Given the description of an element on the screen output the (x, y) to click on. 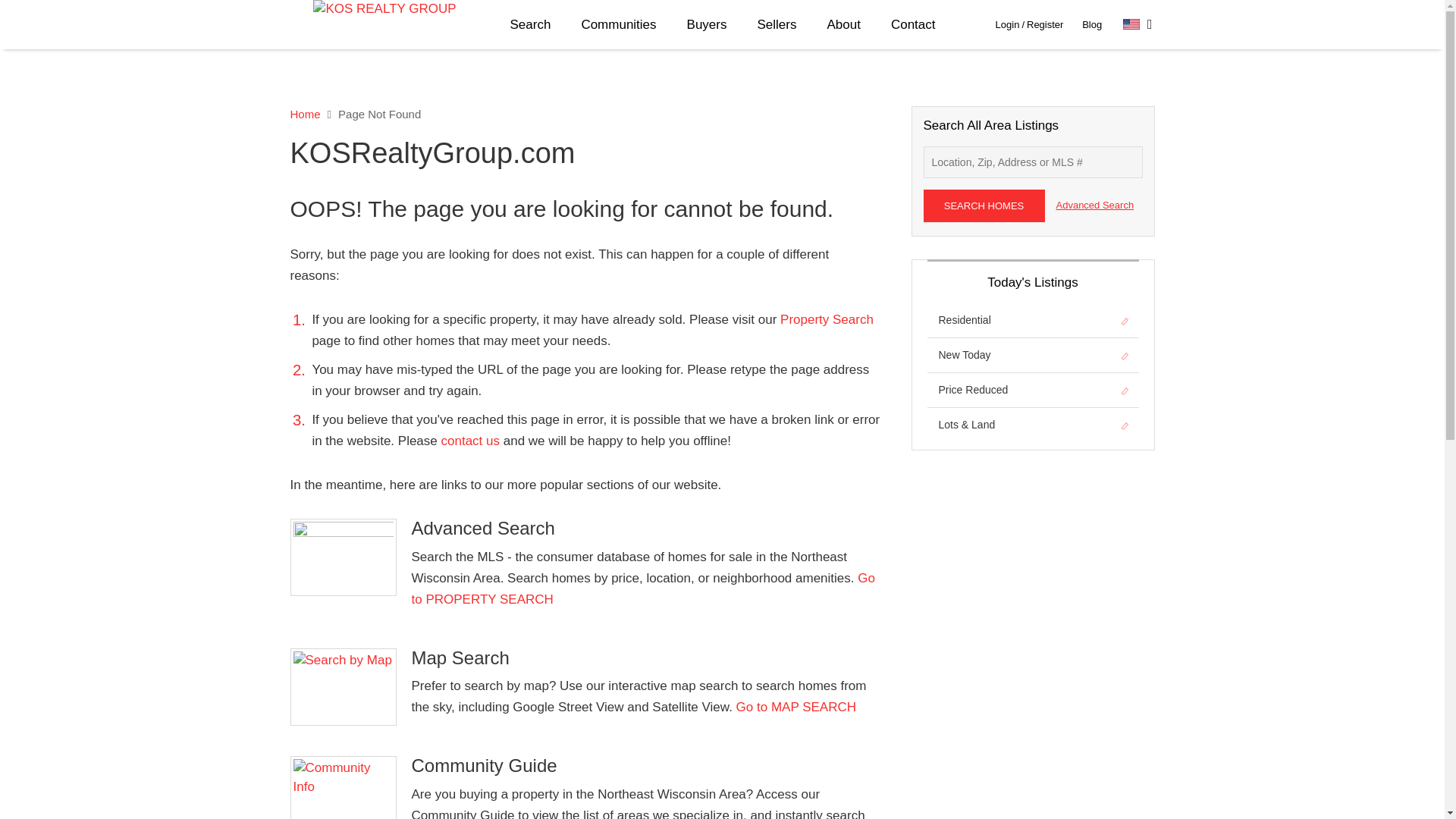
Communities (618, 24)
Search the MLS (642, 588)
Register (1044, 24)
Contact (913, 24)
About (842, 24)
Contact Us (472, 440)
Search the MLS by Map (796, 707)
Buyers (706, 24)
Search the MLS (826, 319)
Sellers (775, 24)
